Given the description of an element on the screen output the (x, y) to click on. 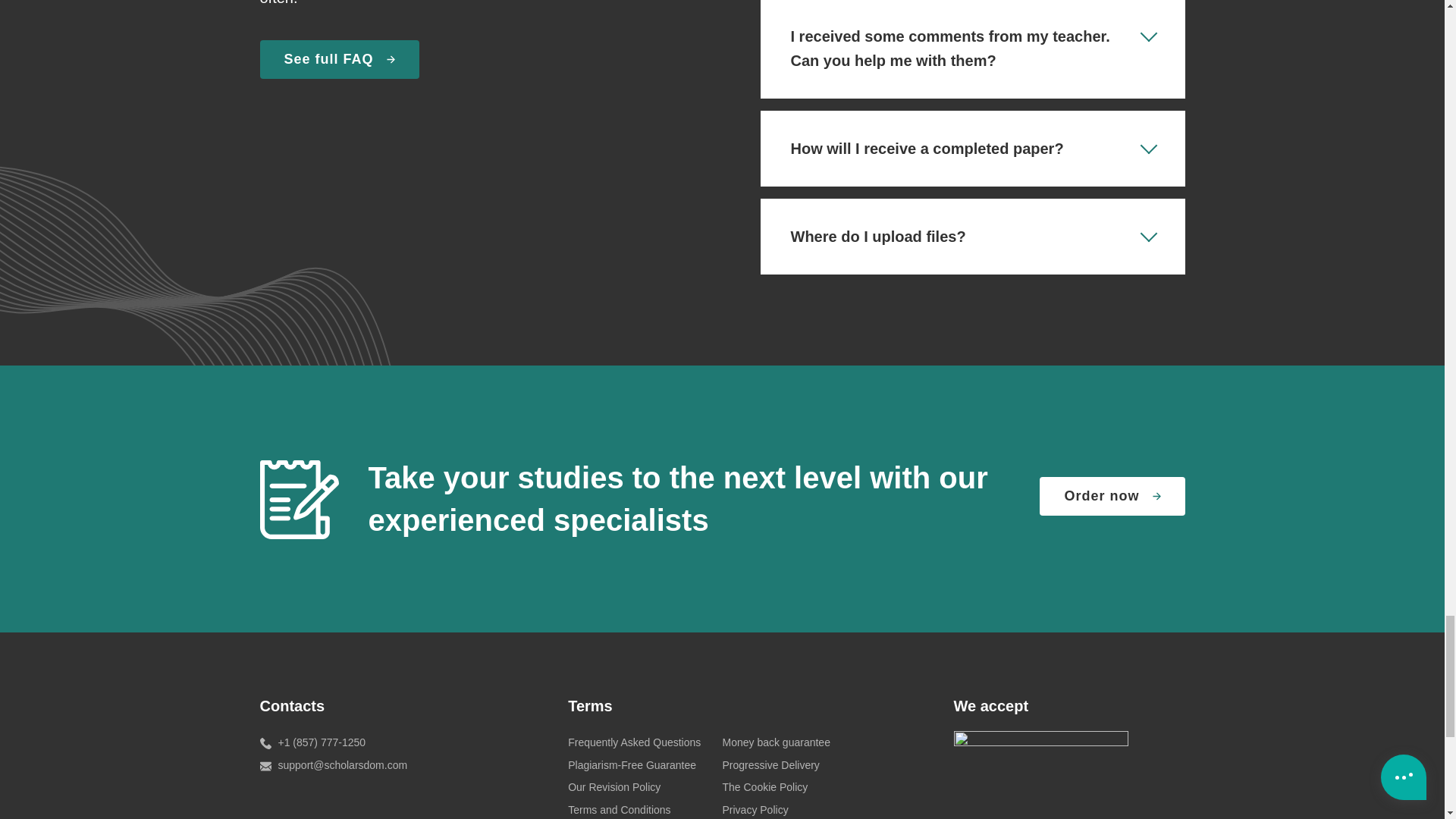
Privacy Policy (754, 809)
Terms and Conditions (618, 809)
Order now (1112, 496)
Progressive Delivery (770, 765)
Our Revision Policy (614, 787)
The Cookie Policy (765, 787)
See full FAQ (339, 59)
Plagiarism-Free Guarantee (631, 765)
Frequently Asked Questions (633, 742)
Money back guarantee (775, 742)
